Given the description of an element on the screen output the (x, y) to click on. 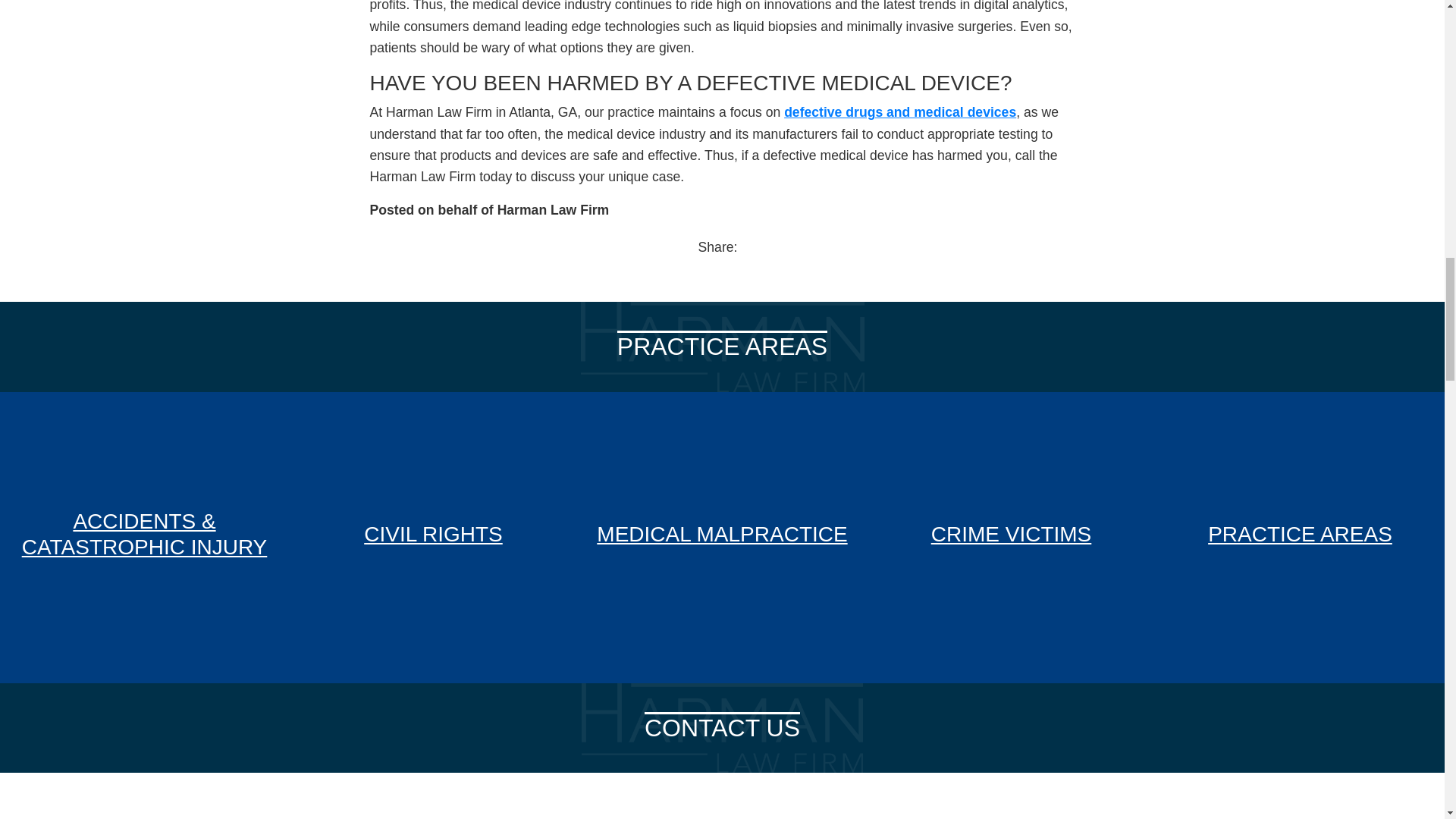
defective drugs and medical devices (900, 111)
Atlanta GA Defective Drug and Medical Device Injuries (900, 111)
CIVIL RIGHTS (433, 537)
CRIME VICTIMS (1011, 537)
MEDICAL MALPRACTICE (722, 537)
